Given the description of an element on the screen output the (x, y) to click on. 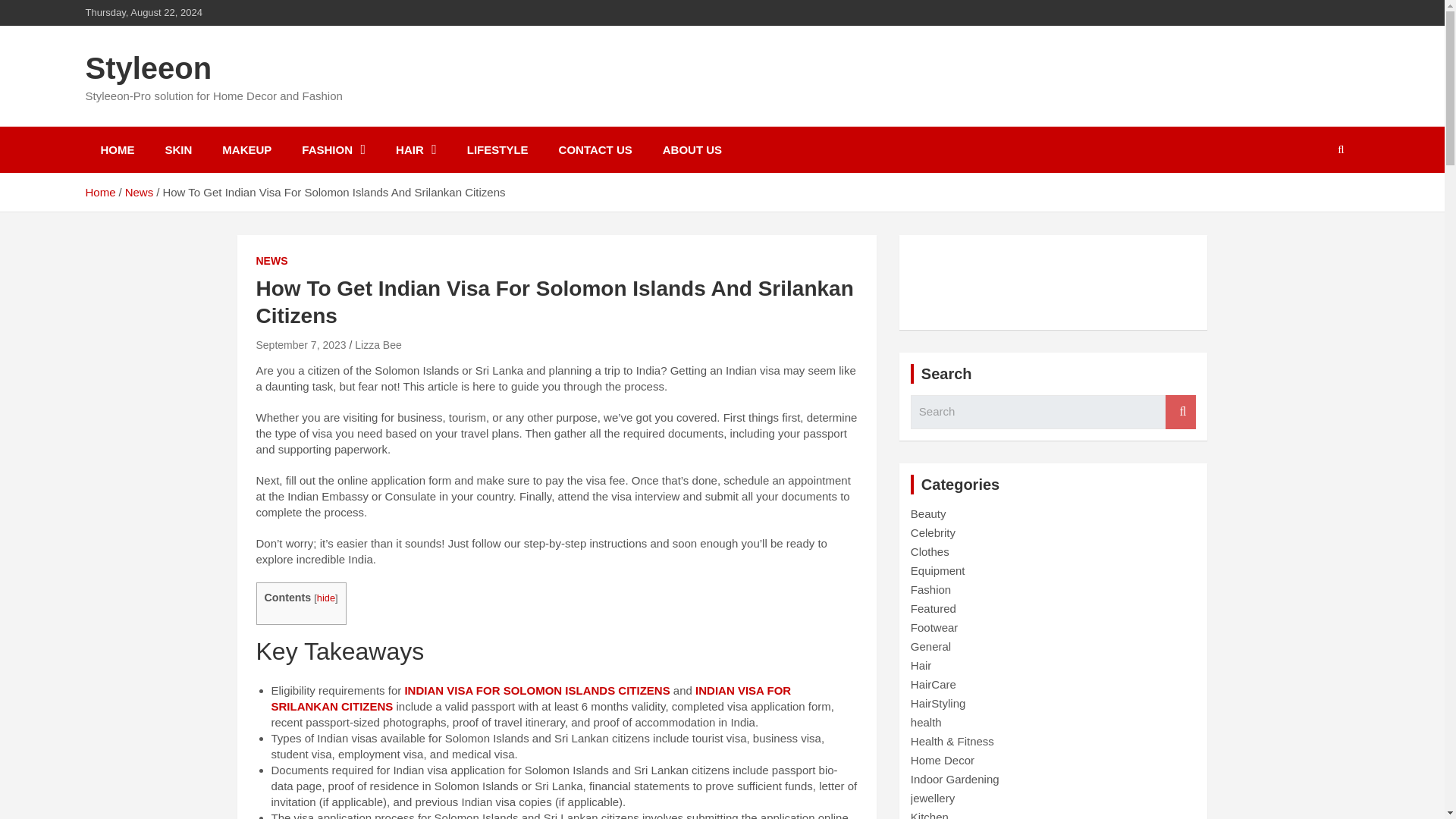
Home (99, 192)
General (930, 645)
Beauty (928, 513)
HOME (116, 149)
hide (325, 597)
Fashion (930, 589)
Clothes (930, 551)
Lizza Bee (378, 345)
HairStyling (938, 703)
Hair (921, 665)
